Given the description of an element on the screen output the (x, y) to click on. 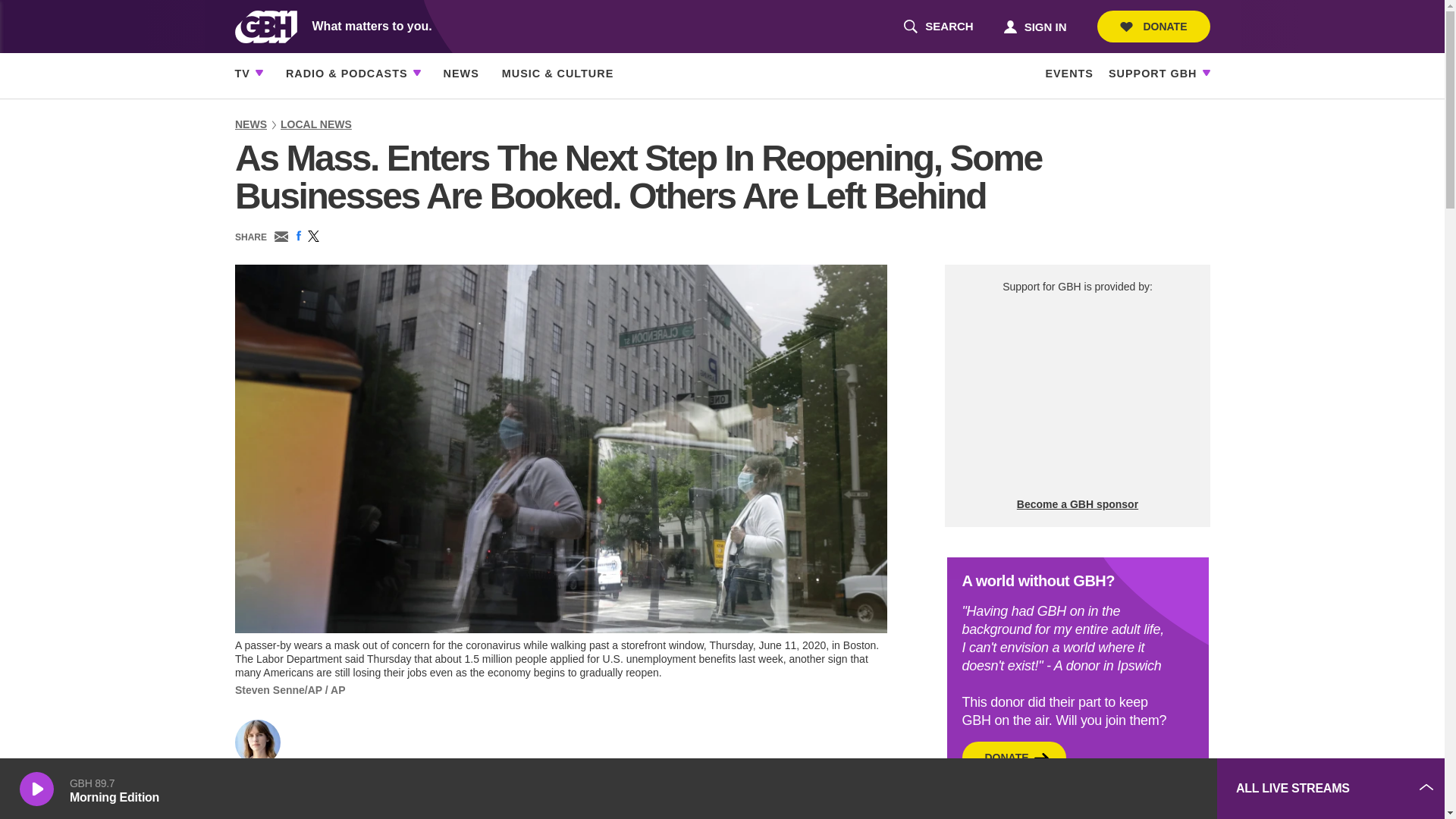
SIGN IN (1034, 25)
DONATE (1153, 26)
3rd party ad content (1091, 788)
3rd party ad content (937, 26)
